Given the description of an element on the screen output the (x, y) to click on. 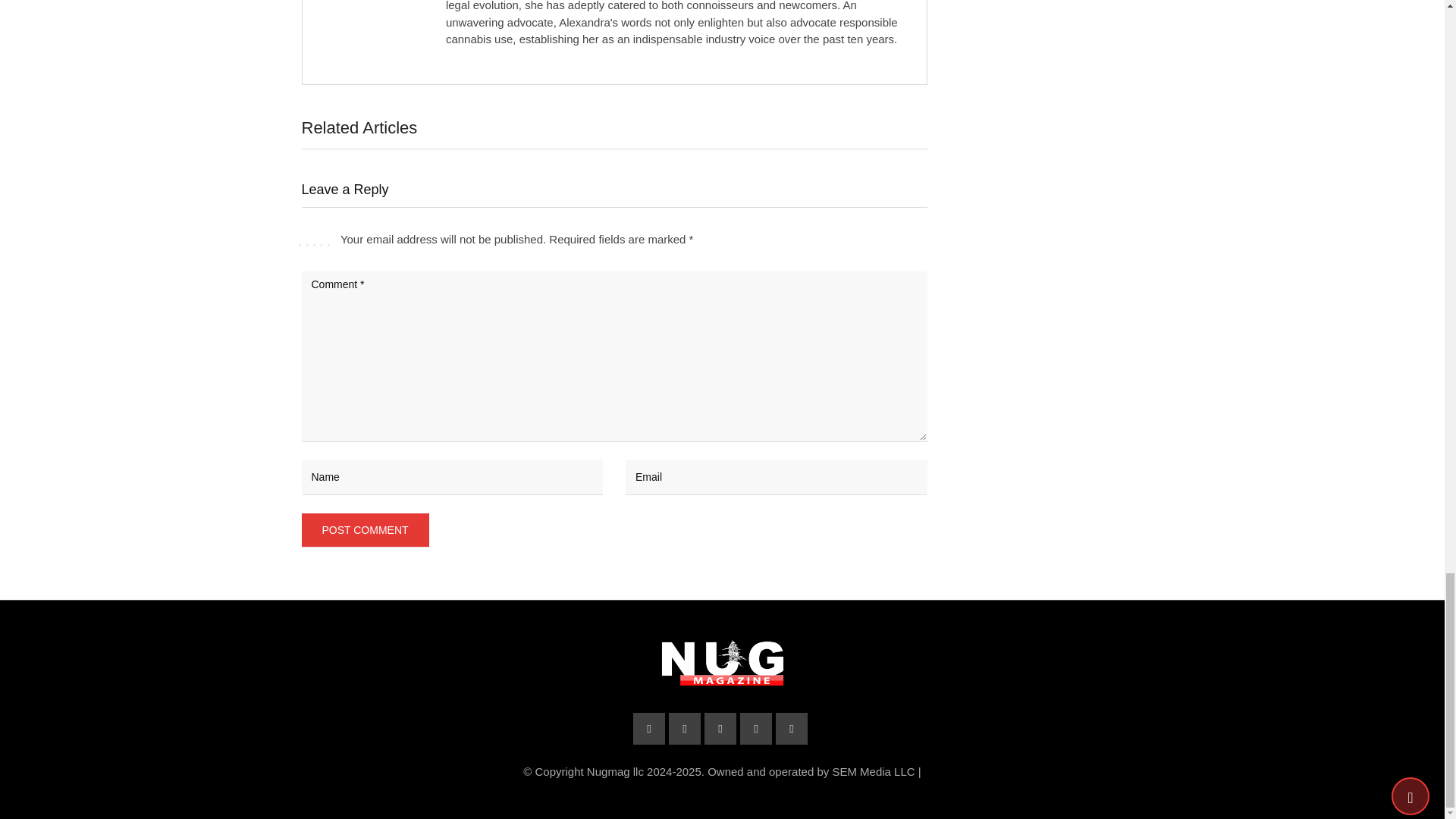
Post Comment (365, 530)
